Given the description of an element on the screen output the (x, y) to click on. 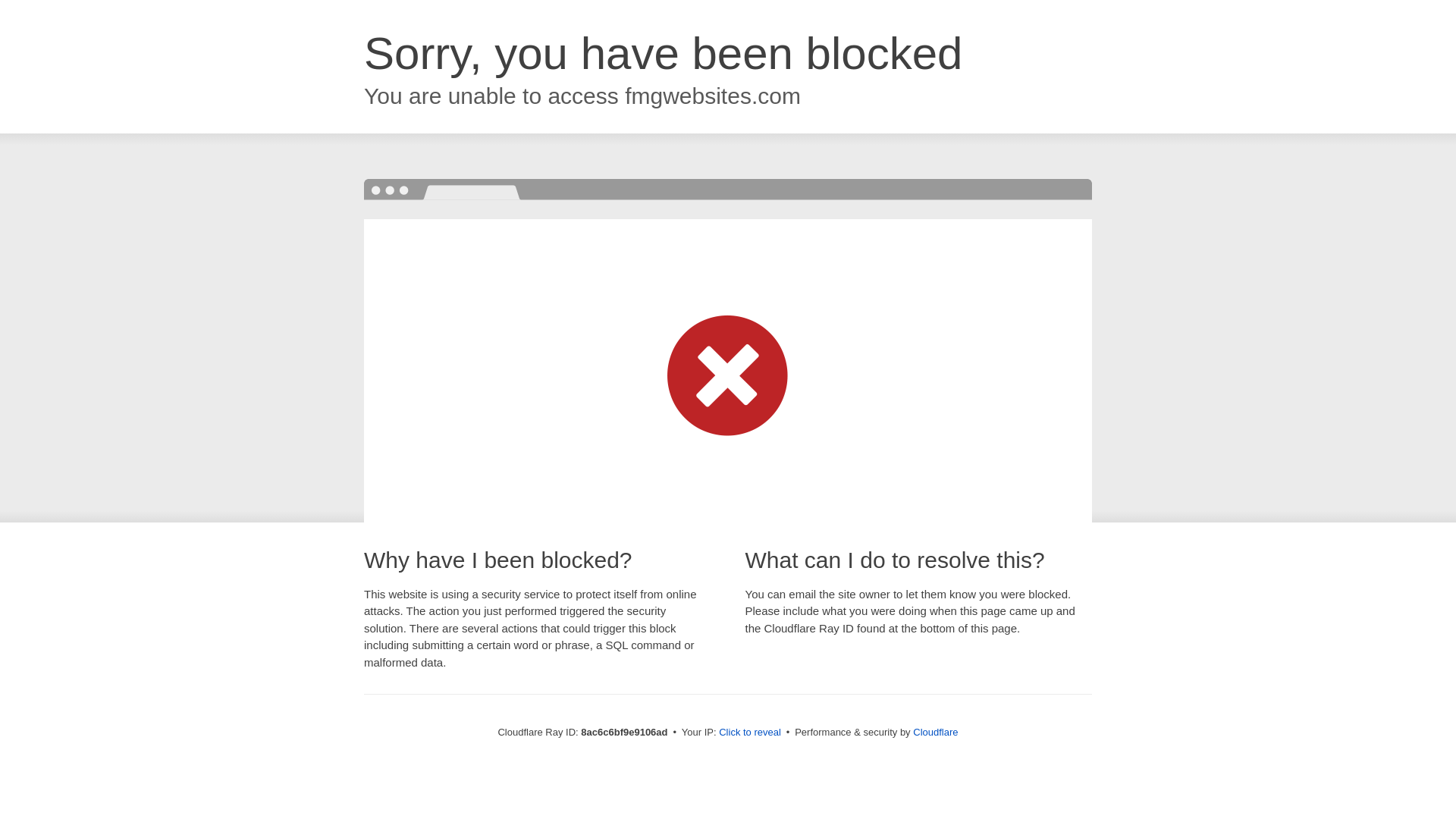
Click to reveal (749, 732)
Cloudflare (935, 731)
